Given the description of an element on the screen output the (x, y) to click on. 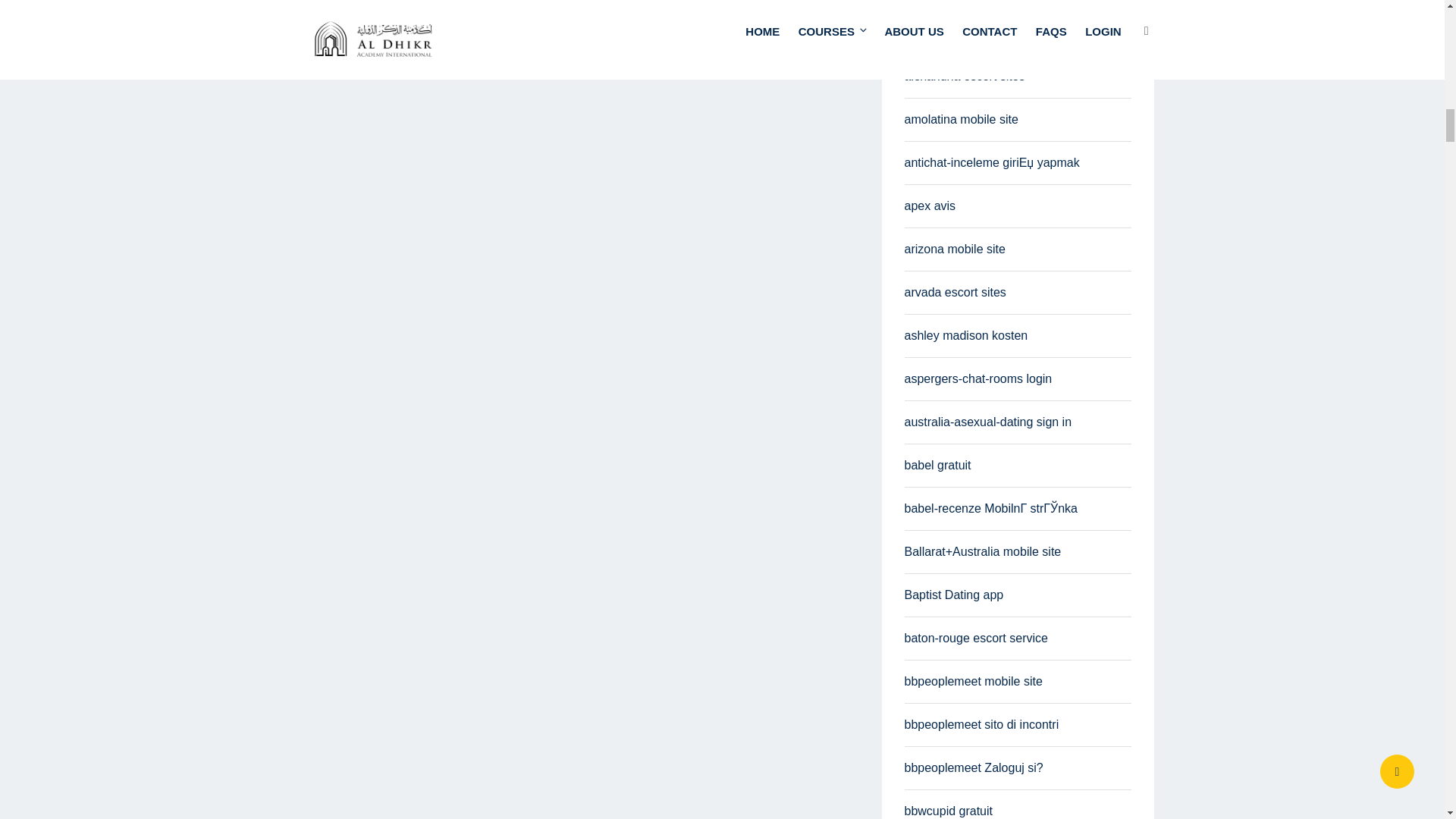
Post Comment (386, 5)
